Given the description of an element on the screen output the (x, y) to click on. 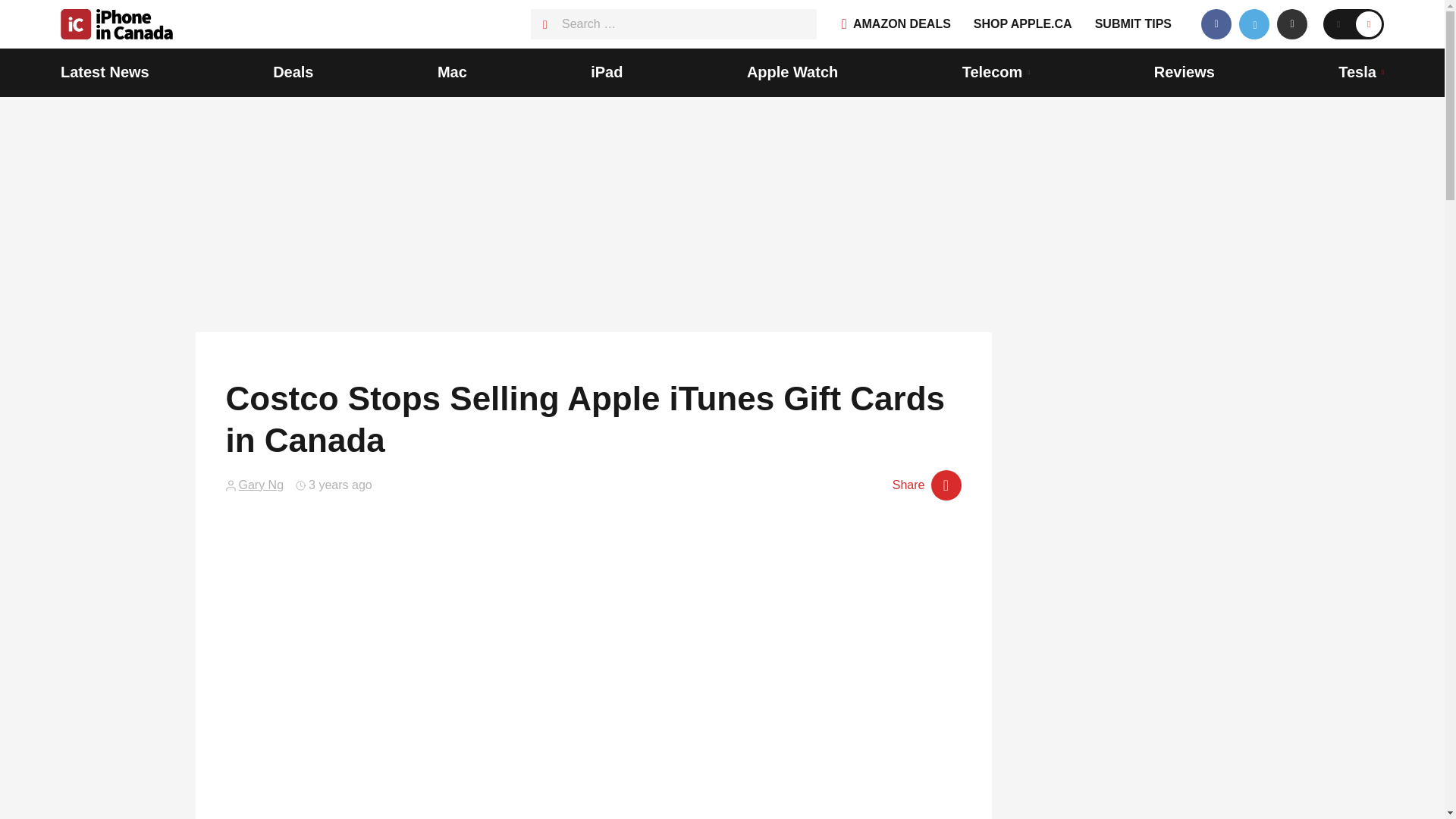
Search for: (673, 24)
Reviews (1184, 72)
Gary Ng (260, 484)
Latest News (105, 72)
Share (926, 485)
Apple Watch (792, 72)
AMAZON DEALS (895, 23)
SHOP APPLE.CA (1022, 23)
SUBMIT TIPS (1133, 23)
